Given the description of an element on the screen output the (x, y) to click on. 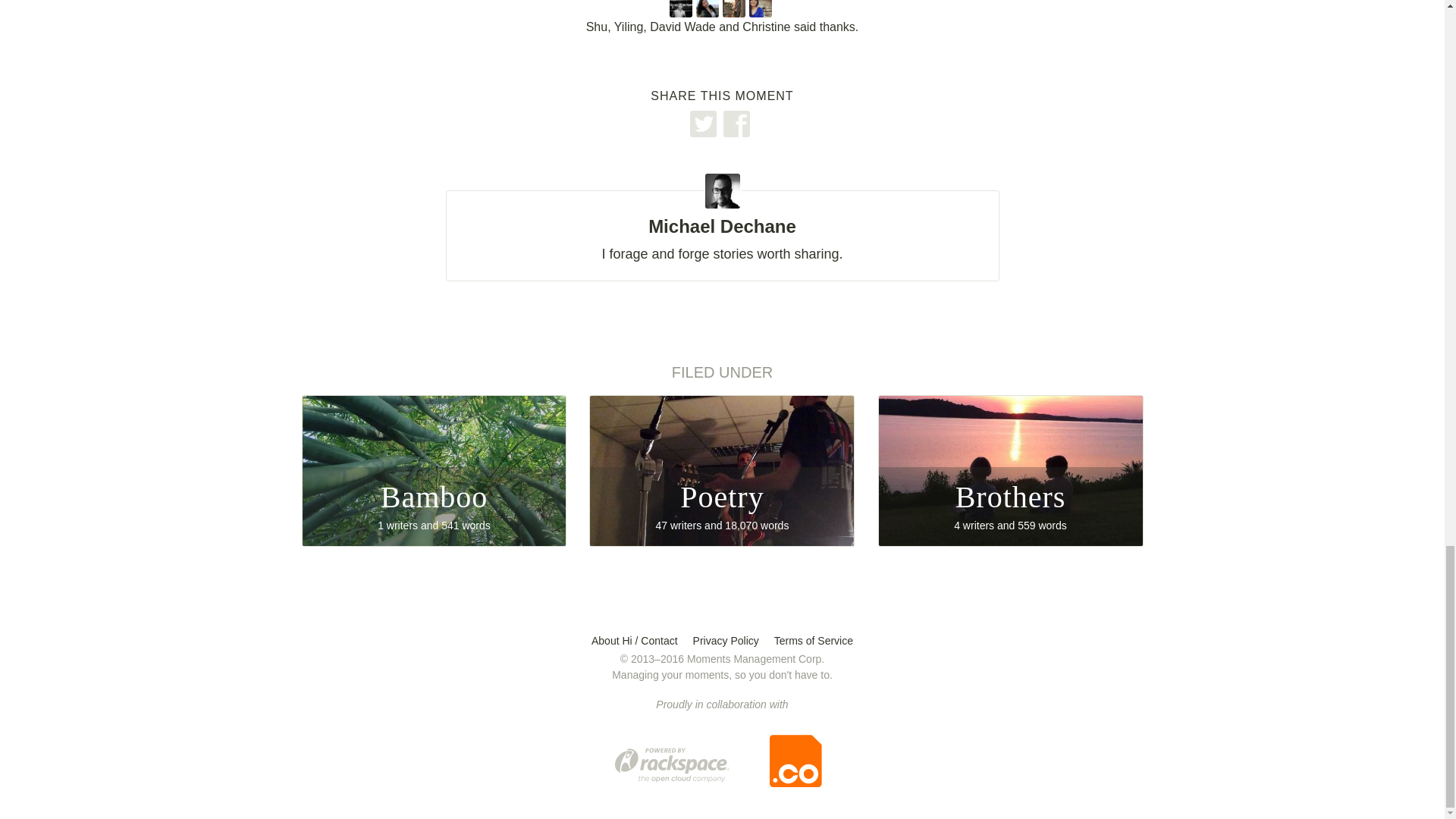
Christine Herrin (434, 470)
Yiling Ding (762, 6)
Shu Kuge (708, 6)
Michael Dechane (681, 6)
Privacy Policy (1009, 470)
David Wade Chambers (721, 219)
Terms of Service (725, 640)
